Given the description of an element on the screen output the (x, y) to click on. 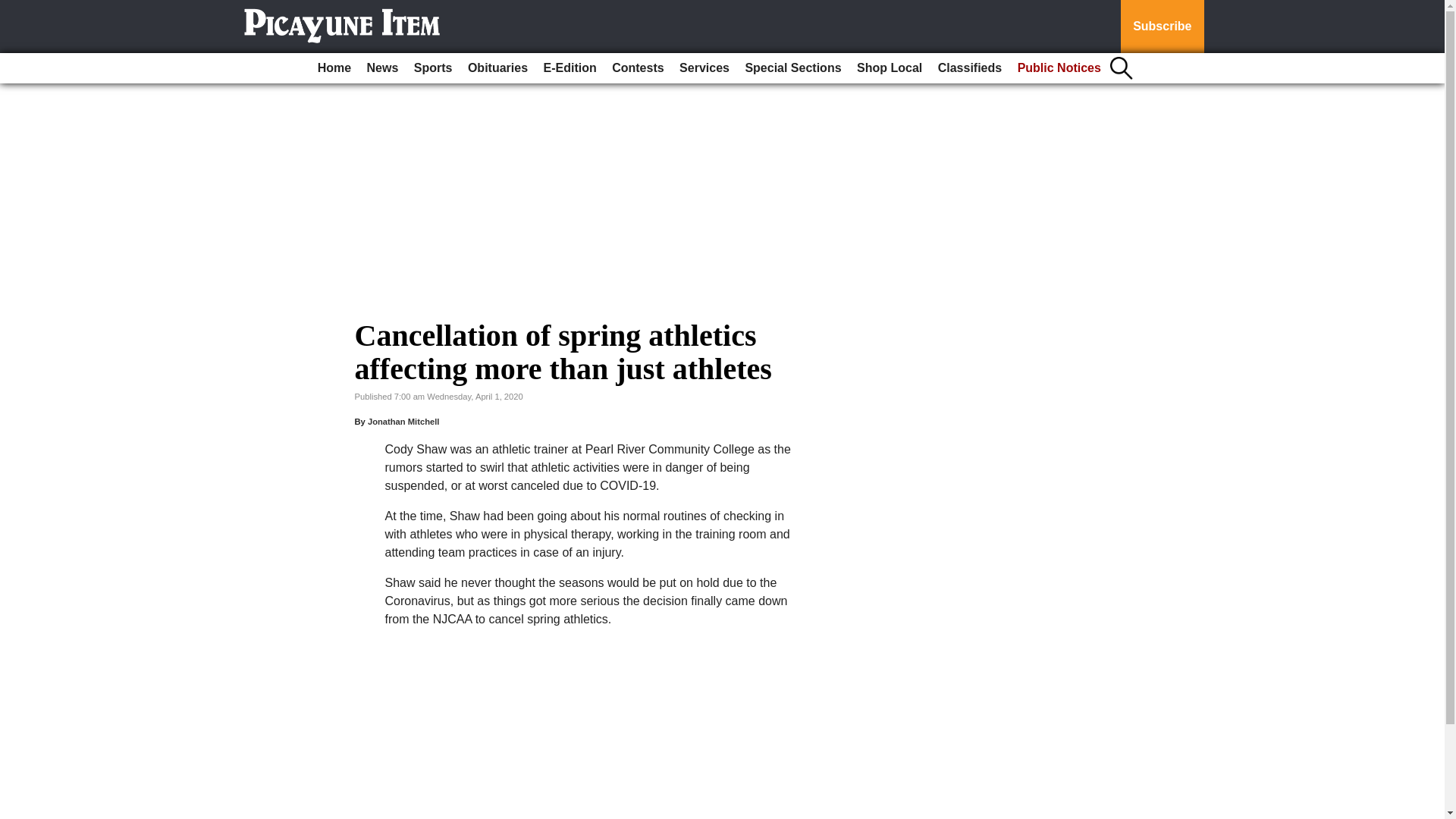
Home (333, 68)
Contests (637, 68)
Public Notices (1058, 68)
Services (703, 68)
Go (13, 9)
Jonathan Mitchell (403, 420)
Classifieds (969, 68)
Special Sections (792, 68)
Subscribe (1162, 26)
Obituaries (497, 68)
